Given the description of an element on the screen output the (x, y) to click on. 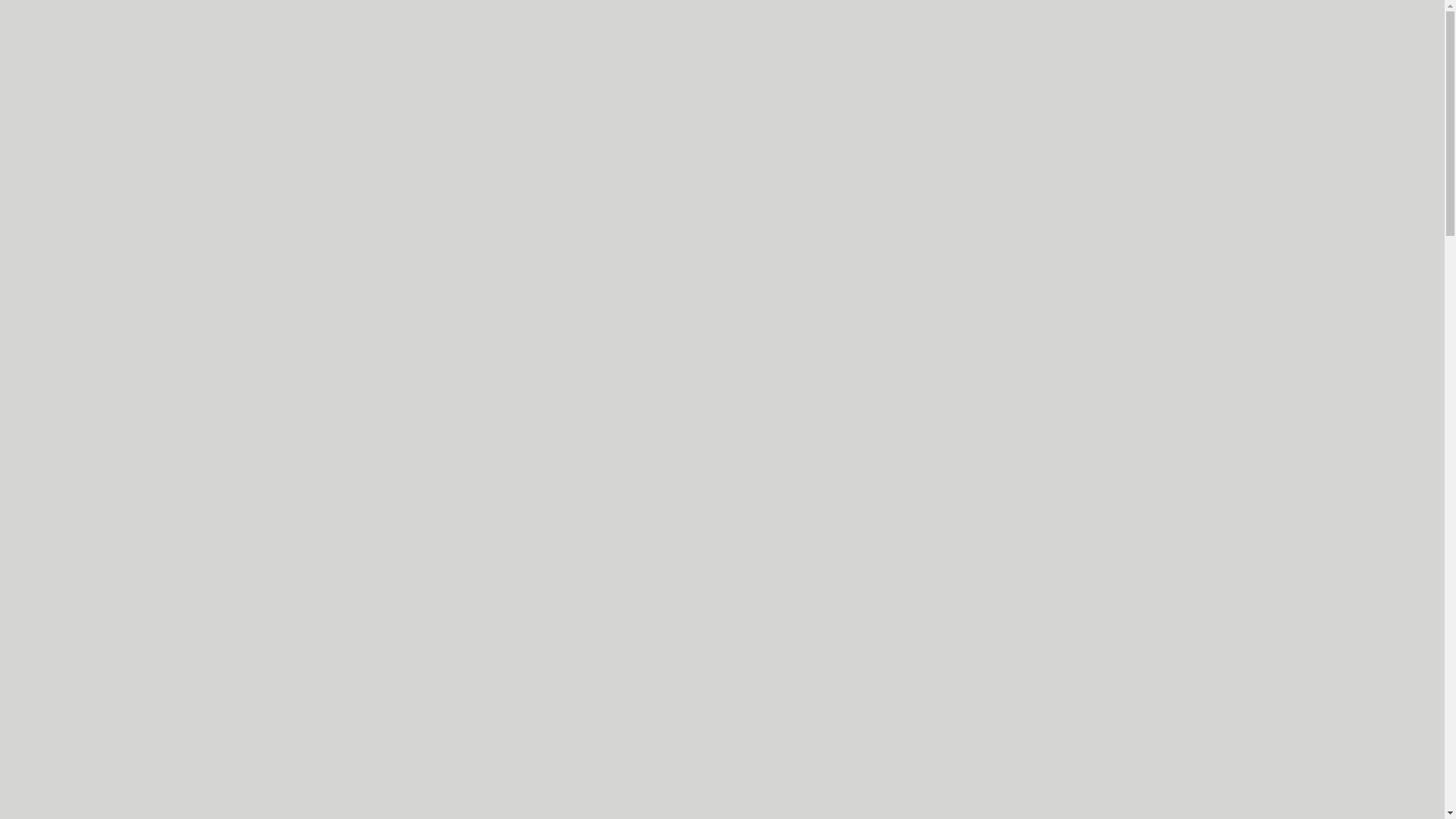
as Element type: text (26, 25)
1 Element type: text (164, 760)
1 Element type: text (164, 781)
1 Element type: text (164, 801)
